Given the description of an element on the screen output the (x, y) to click on. 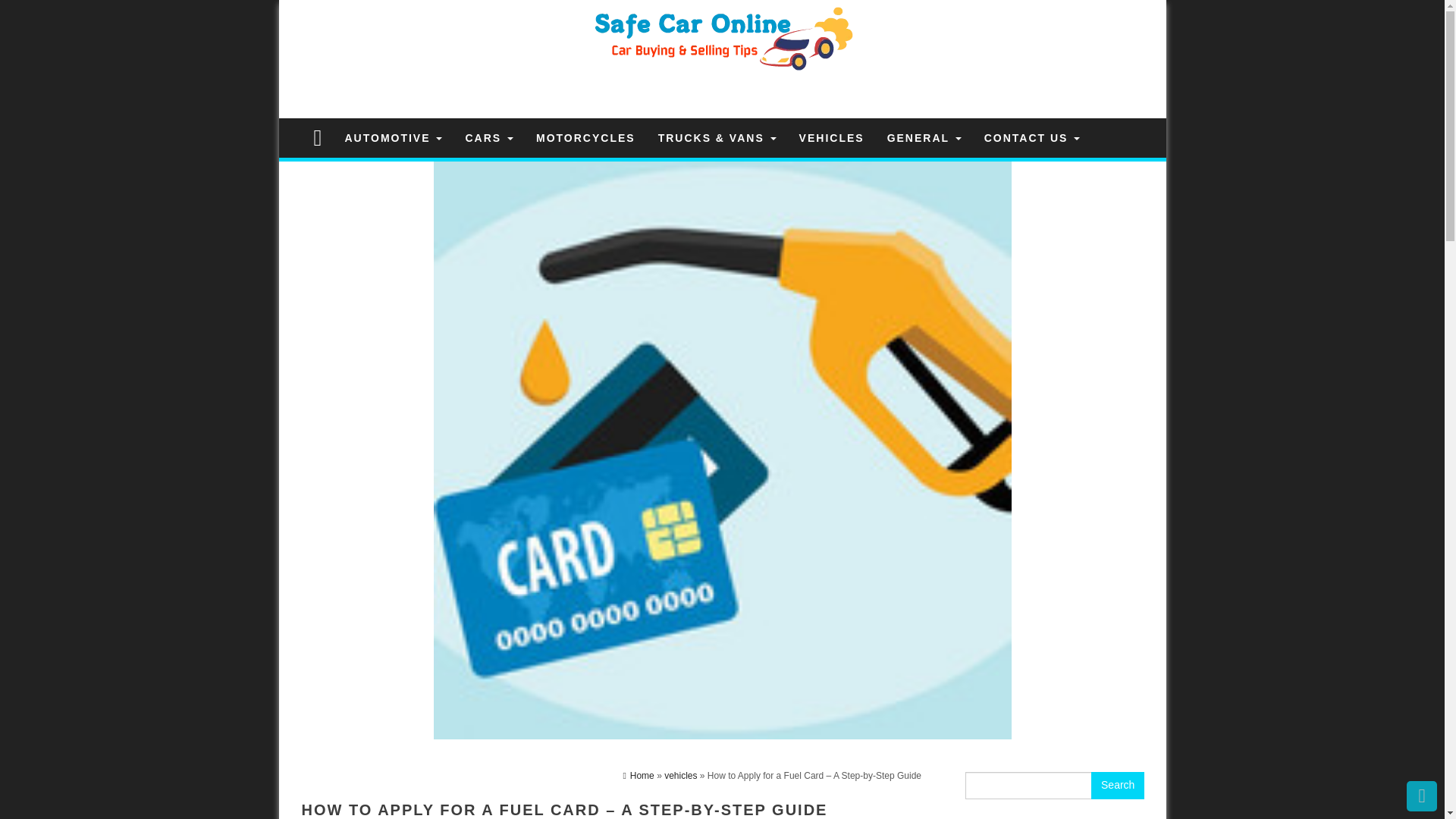
AUTOMOTIVE (392, 137)
MOTORCYCLES (585, 137)
VEHICLES (831, 137)
Search (1117, 785)
Cars (488, 137)
CARS (488, 137)
vehicles (680, 775)
Home (638, 775)
Automotive (392, 137)
GENERAL (924, 137)
